Given the description of an element on the screen output the (x, y) to click on. 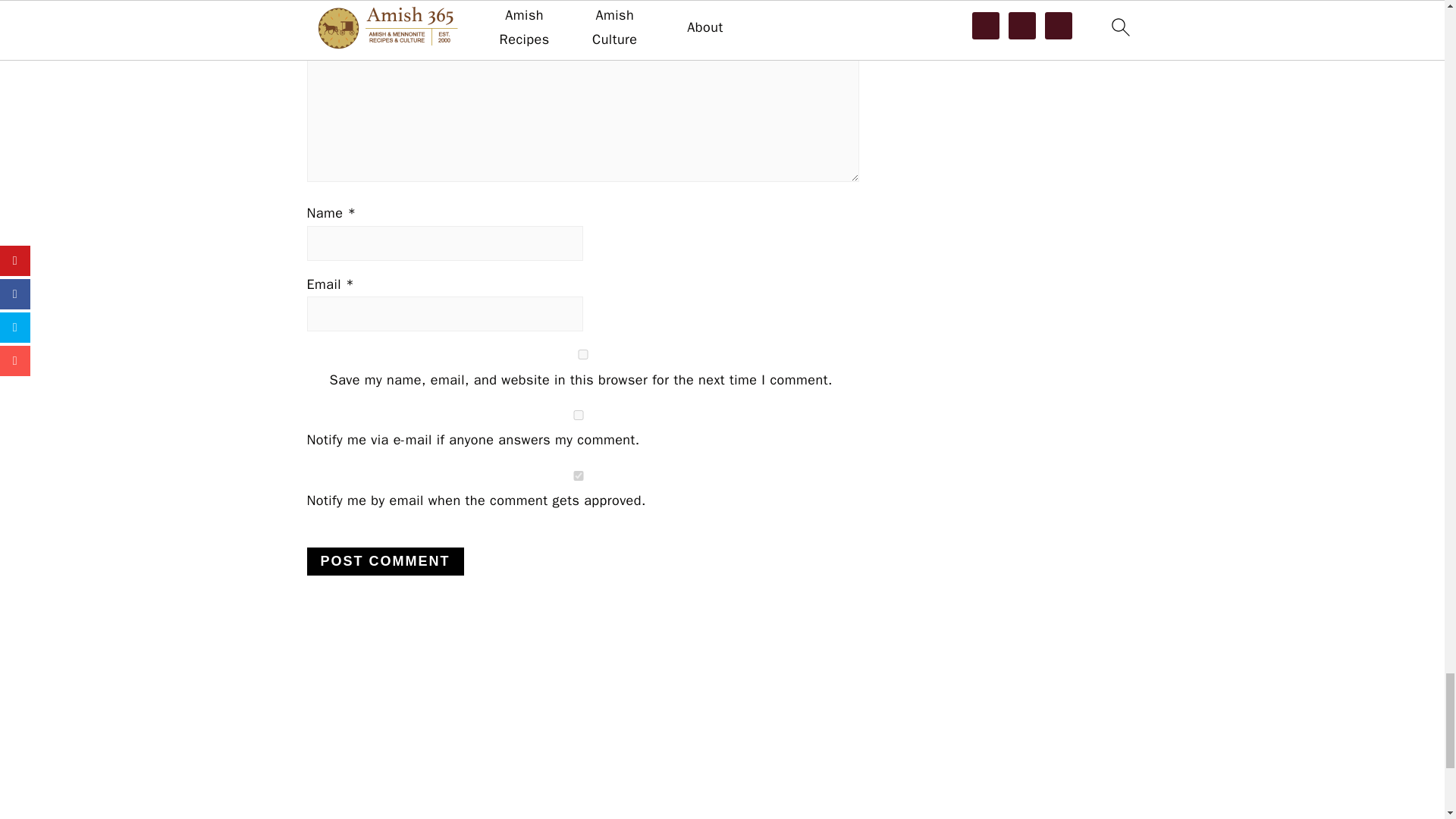
1 (576, 475)
Post Comment (384, 561)
yes (582, 354)
on (576, 415)
